Given the description of an element on the screen output the (x, y) to click on. 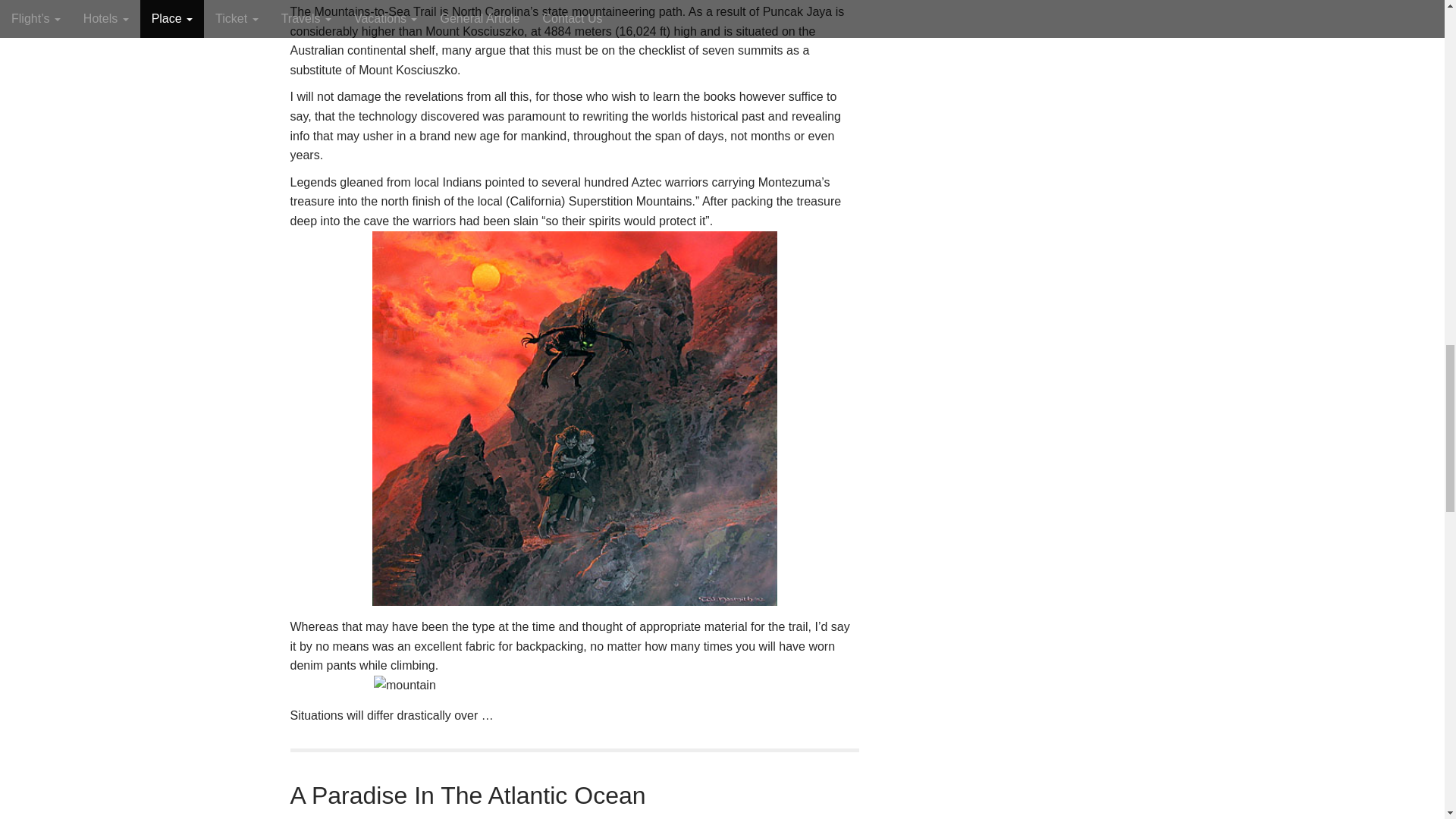
Posts by Avery (314, 817)
